Given the description of an element on the screen output the (x, y) to click on. 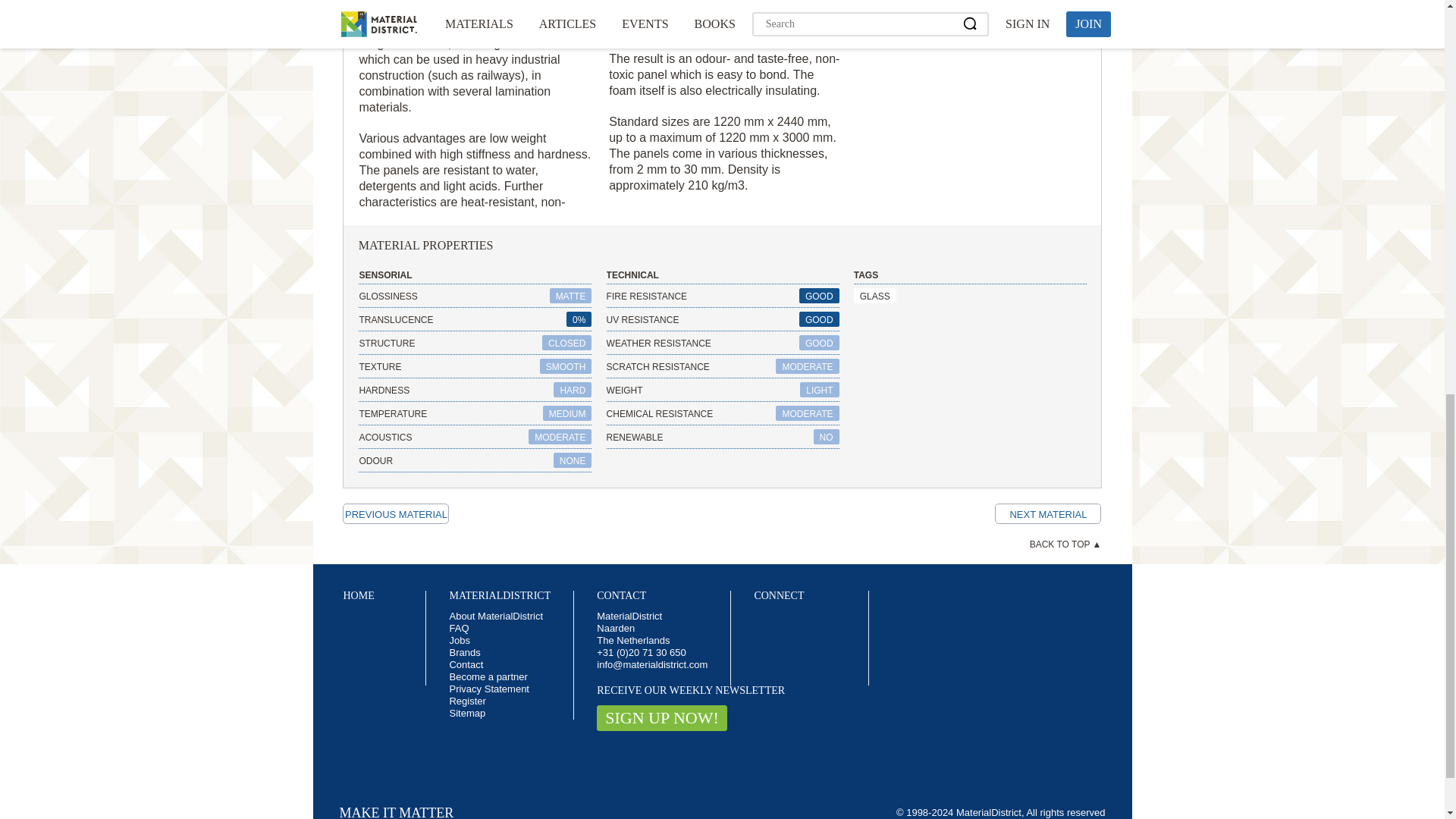
MATTE (571, 295)
Net Effect (1047, 513)
GOOD (819, 342)
MODERATE (559, 436)
CLOSED (566, 342)
GOOD (819, 319)
Home (358, 595)
NONE (572, 459)
LIGHT (818, 389)
HARD (572, 389)
SMOOTH (566, 365)
MODERATE (807, 365)
MEDIUM (567, 412)
GOOD (819, 295)
